Given the description of an element on the screen output the (x, y) to click on. 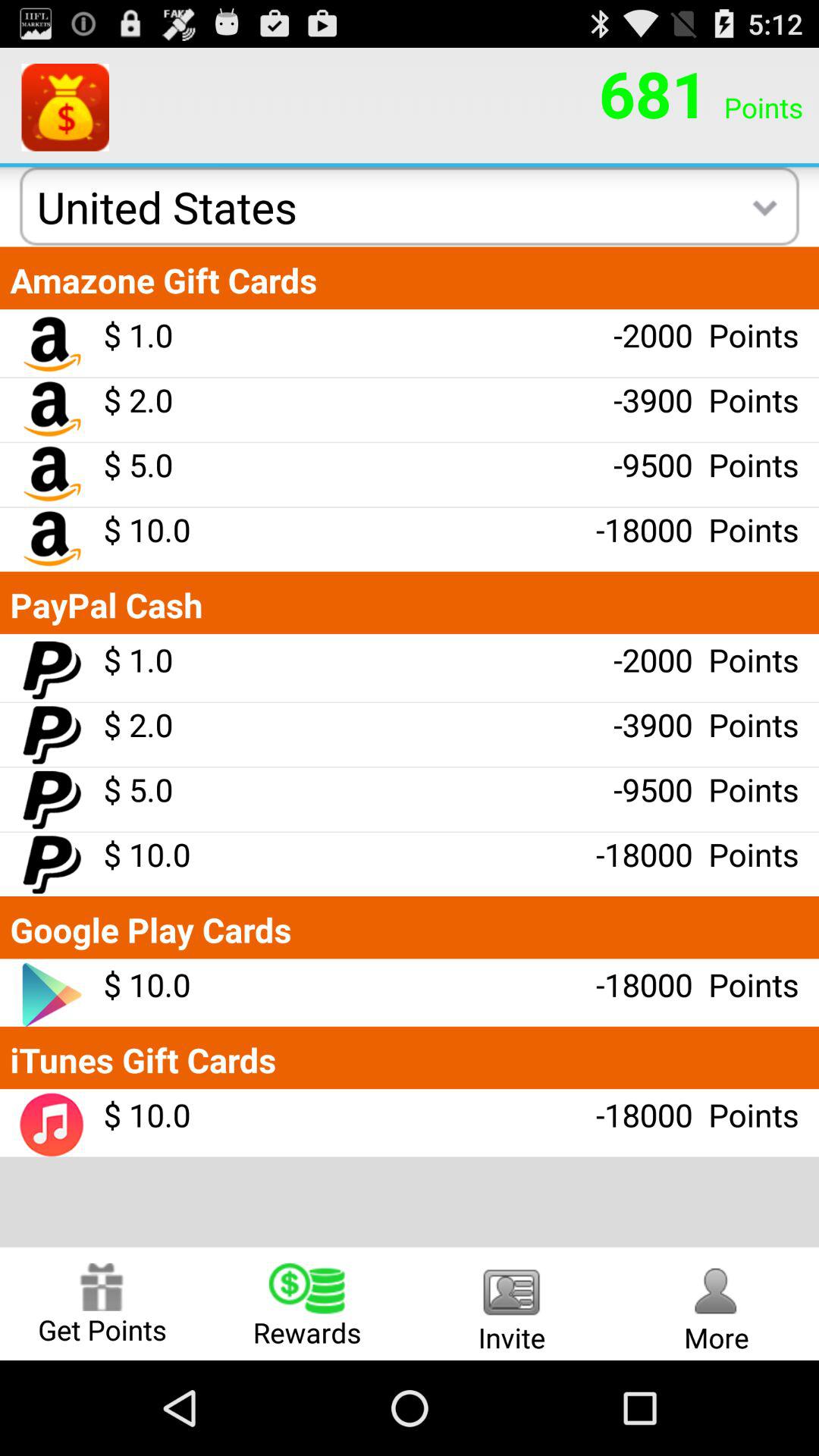
click radio button to the left of more icon (511, 1303)
